Given the description of an element on the screen output the (x, y) to click on. 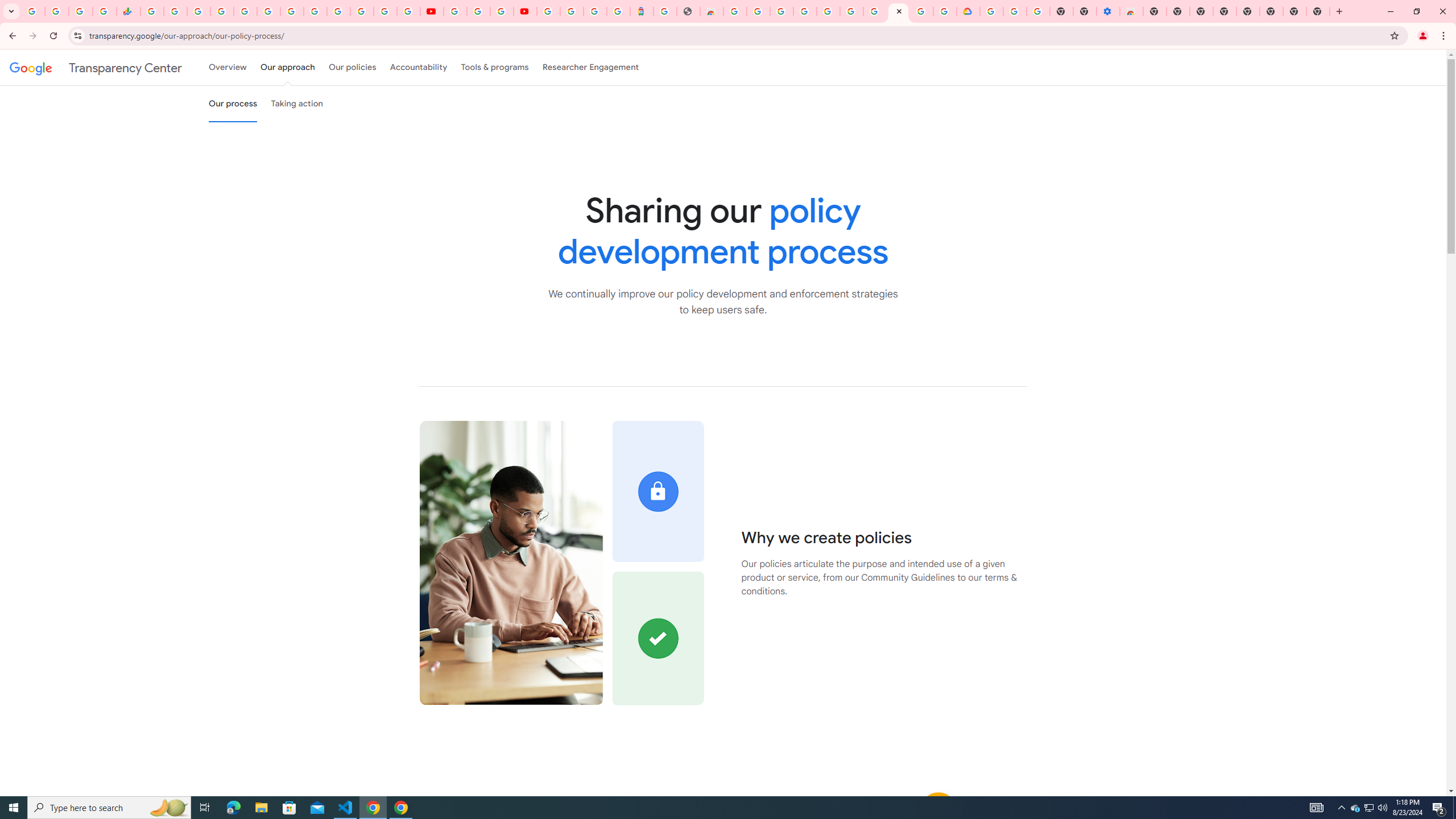
Researcher Engagement (590, 67)
New Tab (1318, 11)
Atour Hotel - Google hotels (641, 11)
Transparency Center (95, 67)
Google Account Help (1015, 11)
